Given the description of an element on the screen output the (x, y) to click on. 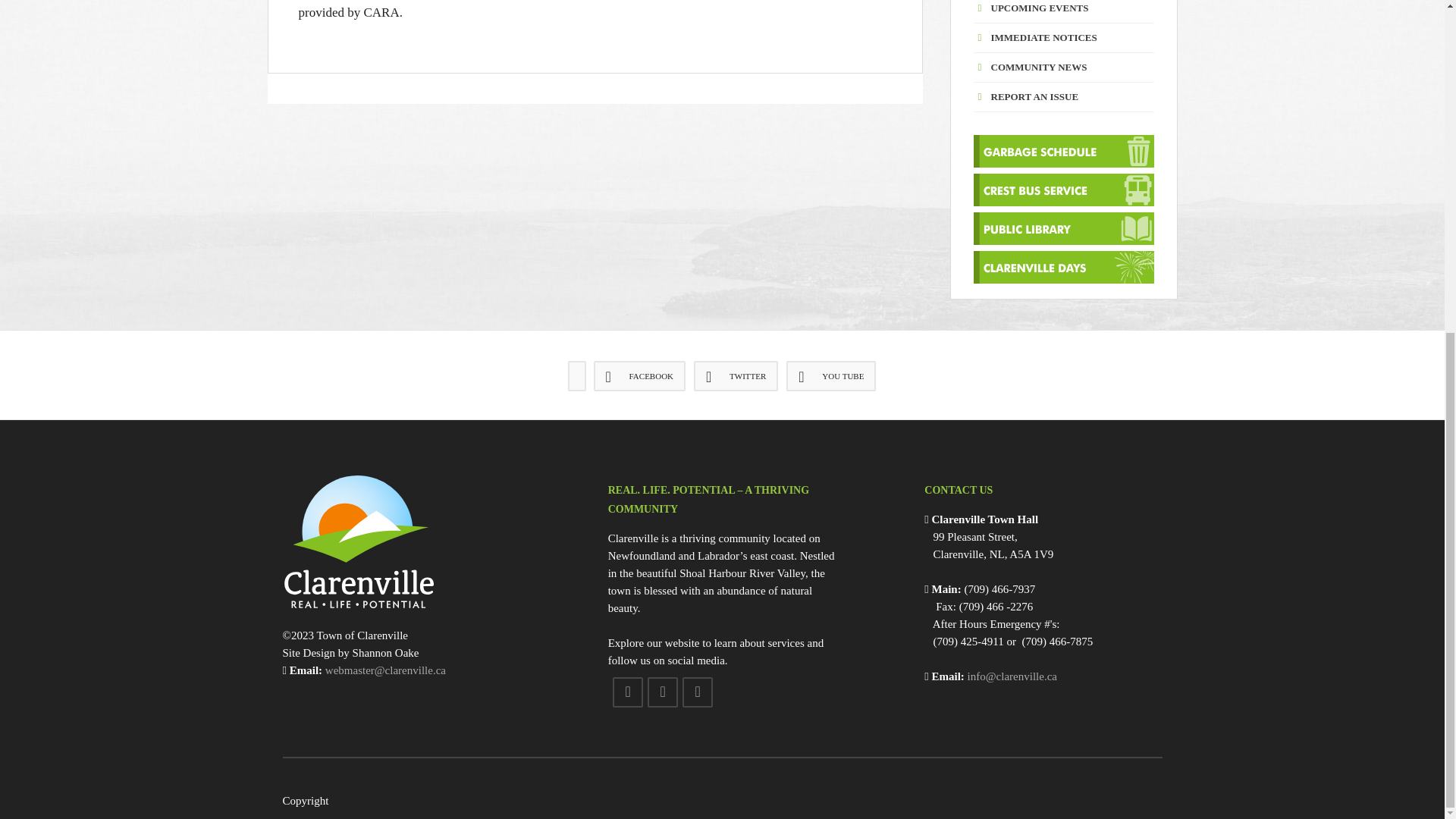
Twitter (735, 376)
You Tube (831, 376)
Twitter (662, 691)
Facebook (627, 691)
You Tube (697, 691)
Facebook (639, 376)
